Given the description of an element on the screen output the (x, y) to click on. 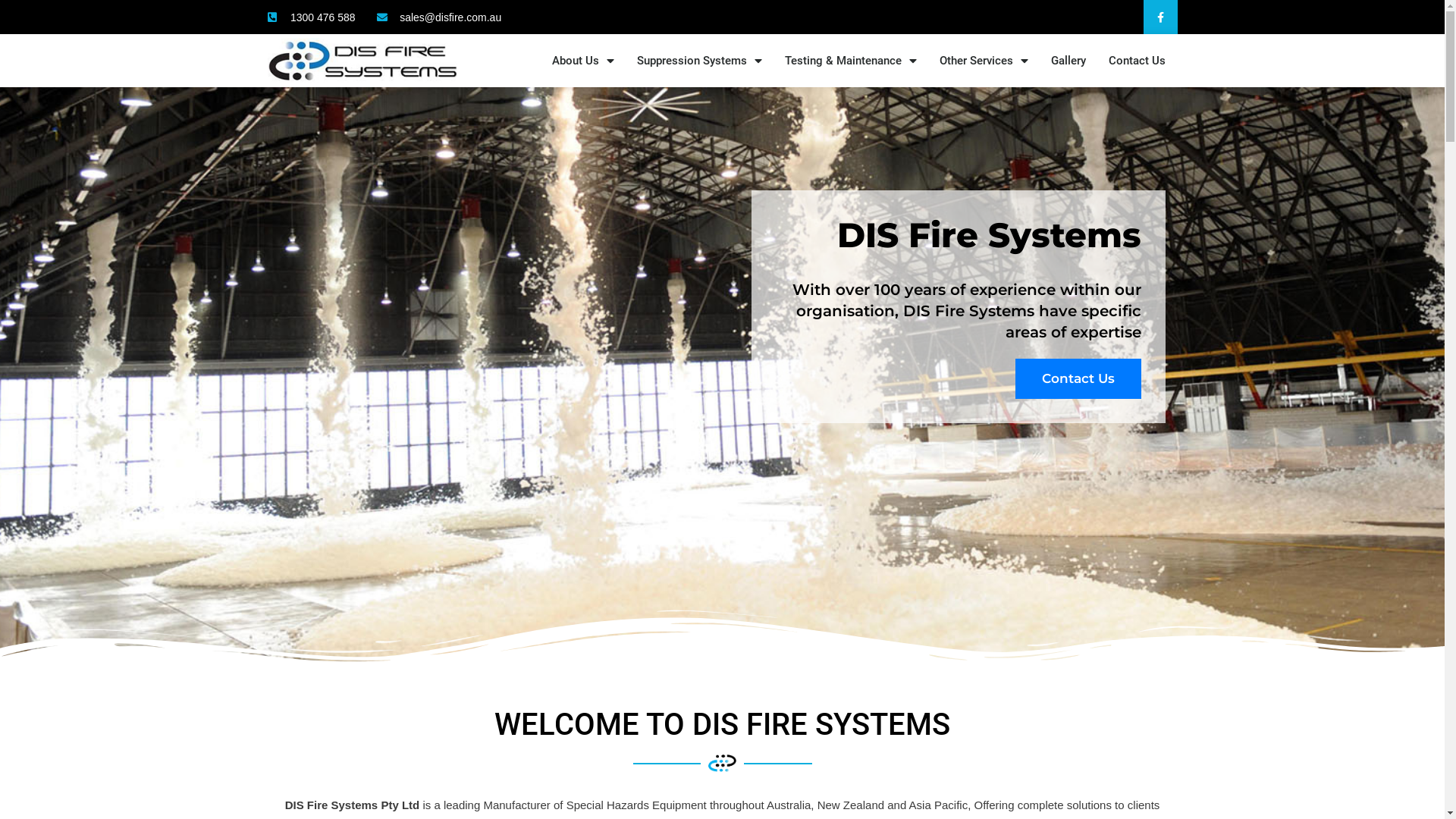
Other Services Element type: text (983, 60)
Gallery Element type: text (1068, 60)
Suppression Systems Element type: text (699, 60)
Testing & Maintenance Element type: text (850, 60)
sales@disfire.com.au Element type: text (439, 17)
Contact Us Element type: text (1136, 60)
About Us Element type: text (582, 60)
1300 476 588 Element type: text (310, 17)
